Given the description of an element on the screen output the (x, y) to click on. 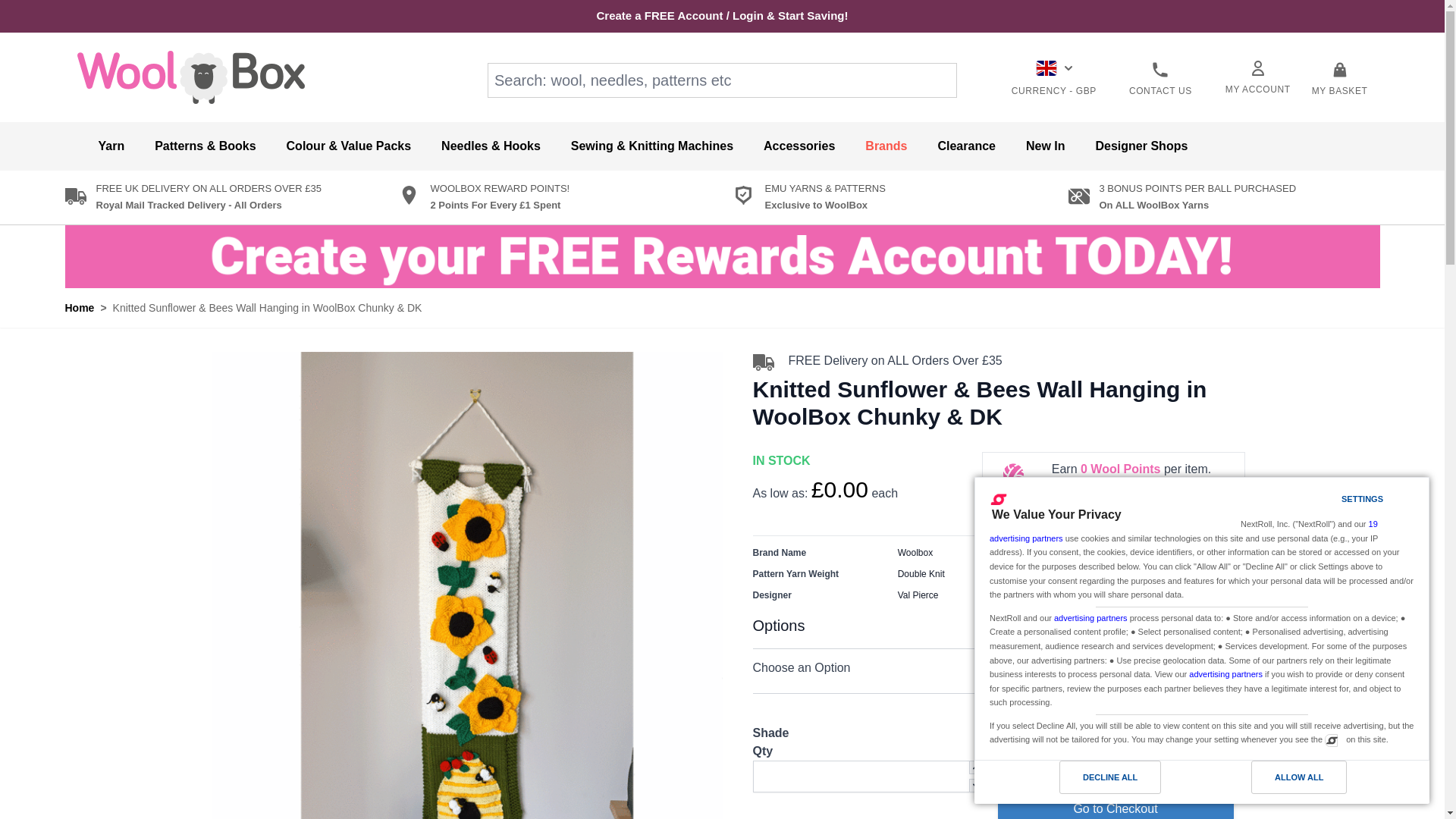
Brands (885, 146)
MY BASKET (1339, 78)
MY ACCOUNT (1257, 76)
Accessories (799, 146)
CURRENCY - GBP (1053, 78)
CONTACT US (1160, 78)
Yarn (110, 146)
Clearance (965, 146)
Woolbox (190, 76)
